Given the description of an element on the screen output the (x, y) to click on. 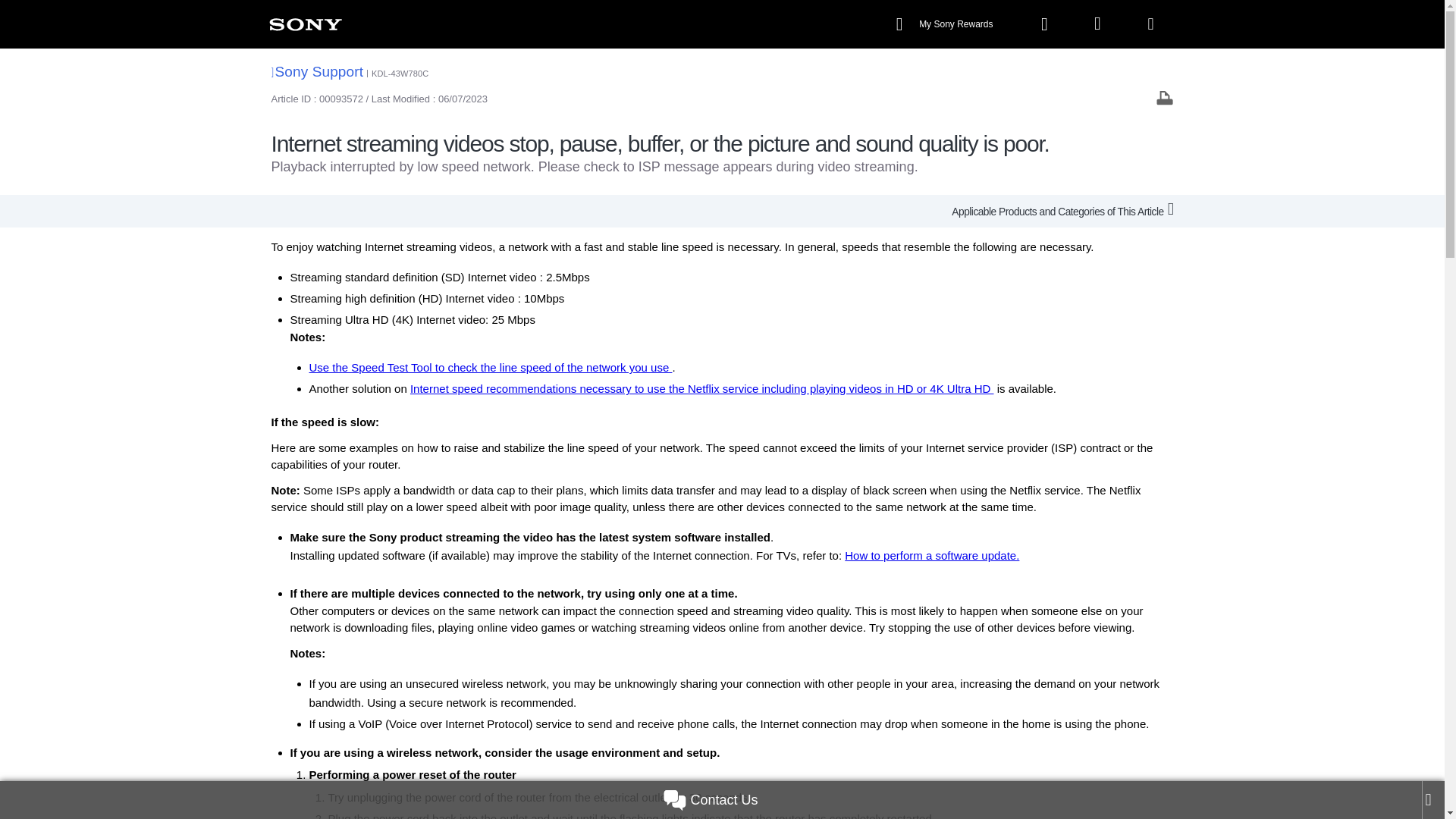
Contact Us (710, 799)
My Sony Rewards (946, 24)
Print (1164, 97)
